Given the description of an element on the screen output the (x, y) to click on. 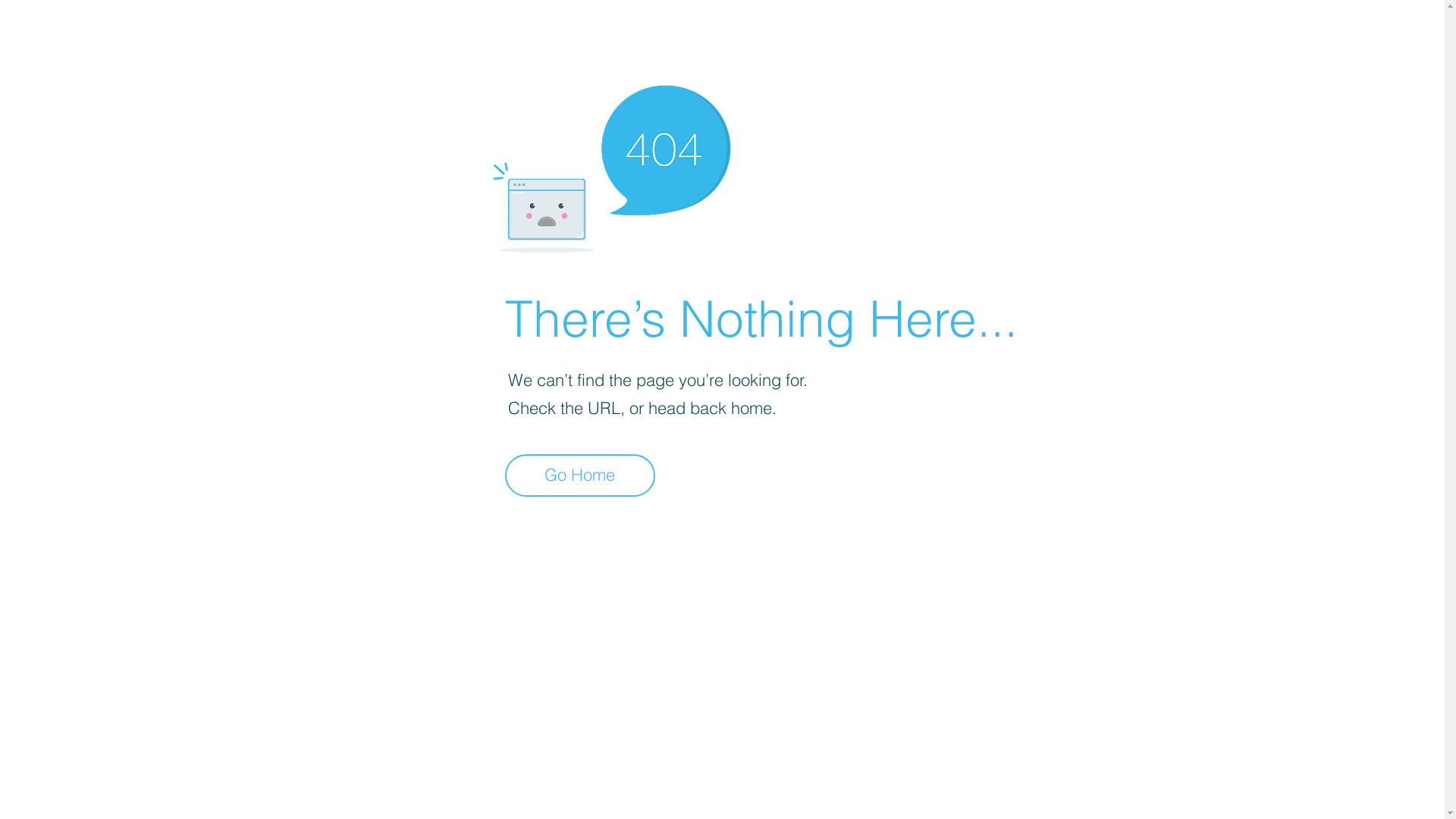
Go Home Element type: text (580, 475)
404-icon_2.png Element type: hover (610, 164)
